Given the description of an element on the screen output the (x, y) to click on. 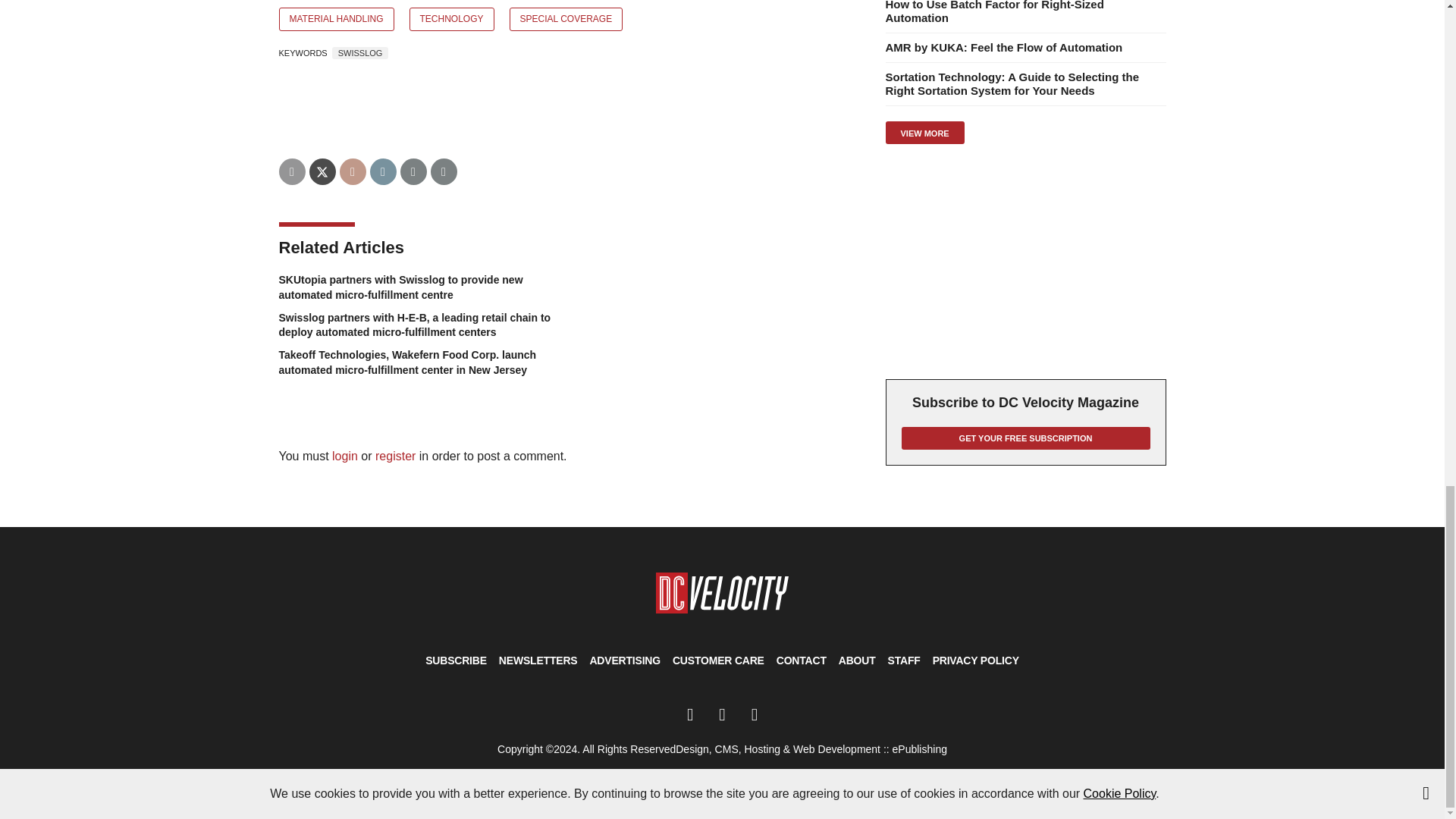
3rd party ad content (1024, 261)
